Given the description of an element on the screen output the (x, y) to click on. 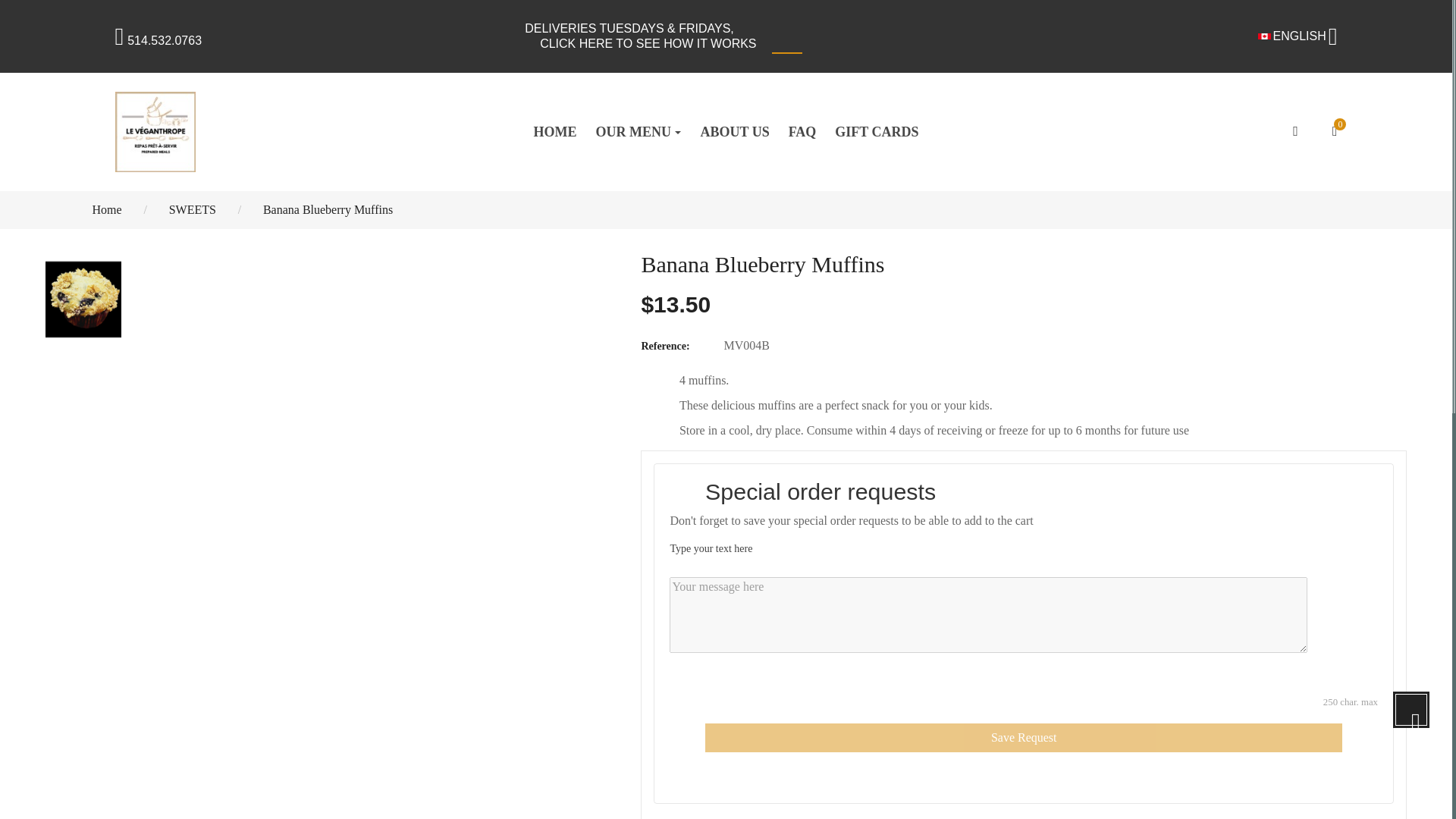
Home (108, 209)
Banana Blueberry Muffins (327, 209)
OUR MENU (638, 131)
Save Request (1023, 737)
HOME (554, 131)
514.532.0763 (158, 40)
ABOUT US (734, 131)
GIFT CARDS (876, 131)
CLICK HERE TO SEE HOW IT WORKS (647, 43)
SWEETS (194, 209)
